Given the description of an element on the screen output the (x, y) to click on. 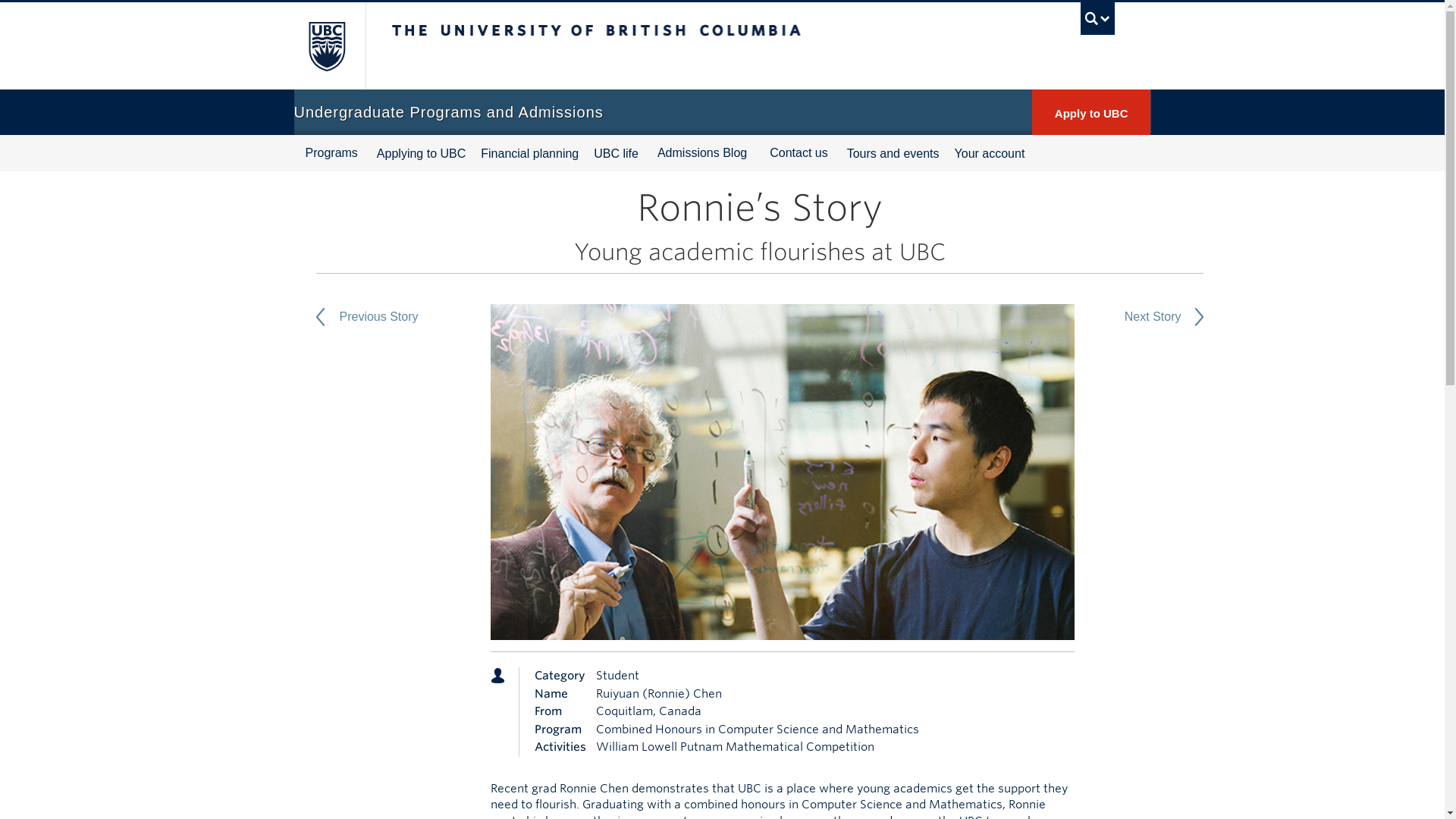
UBC Search (1097, 18)
Programs (331, 153)
Applying to UBC (421, 151)
Undergraduate Programs and Admissions (449, 112)
Apply to UBC (1091, 112)
The University of British Columbia (689, 45)
Undergraduate Programs and Admissions (449, 112)
The University of British Columbia (325, 45)
